Given the description of an element on the screen output the (x, y) to click on. 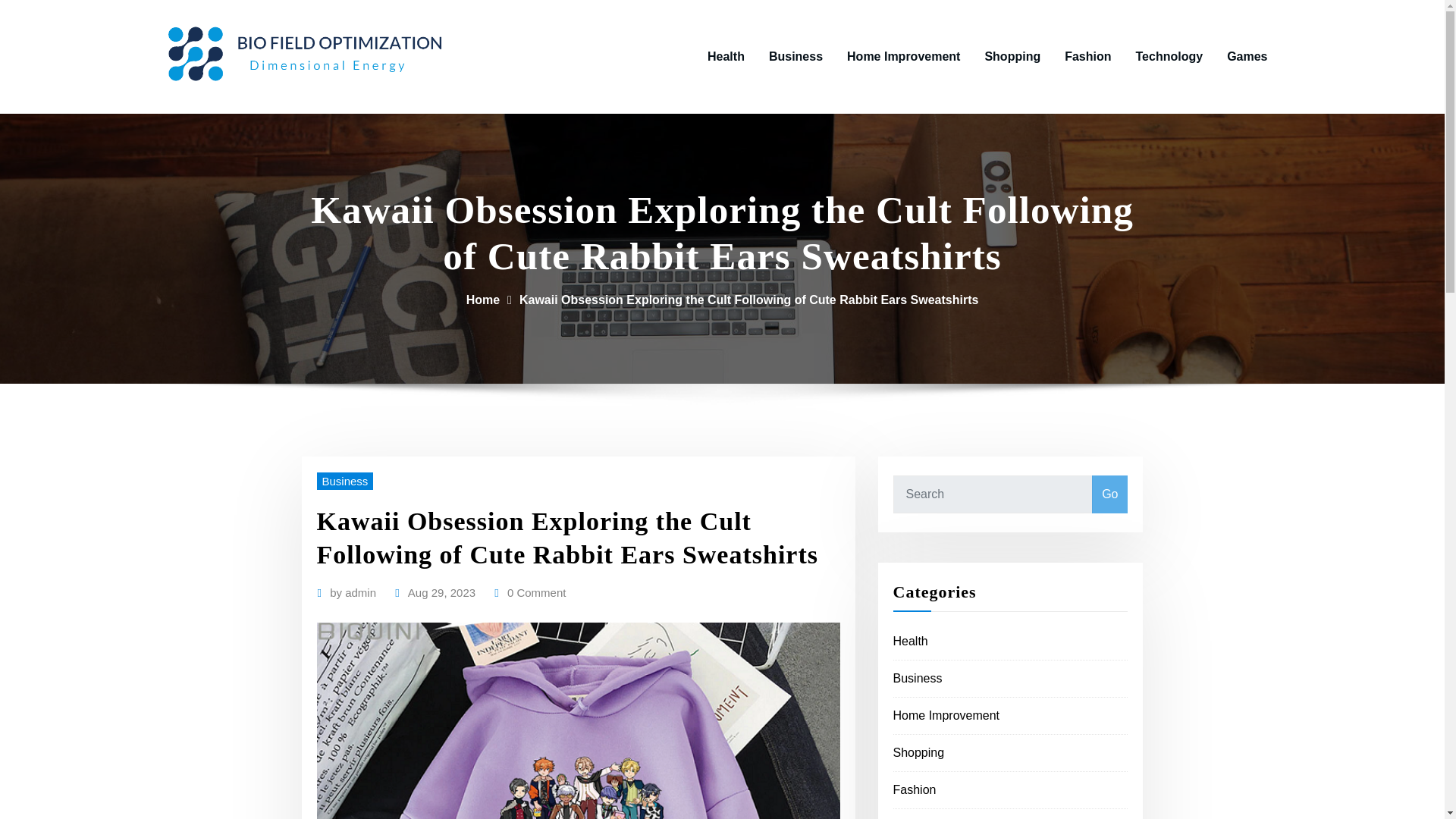
Business (795, 56)
Home (482, 299)
by admin (352, 592)
Shopping (1012, 56)
Home Improvement (903, 56)
Health (910, 640)
0 Comment (536, 592)
Business (345, 480)
Go (1109, 494)
Shopping (918, 752)
Aug 29, 2023 (441, 592)
Technology (1169, 56)
Business (917, 677)
Fashion (914, 789)
